Given the description of an element on the screen output the (x, y) to click on. 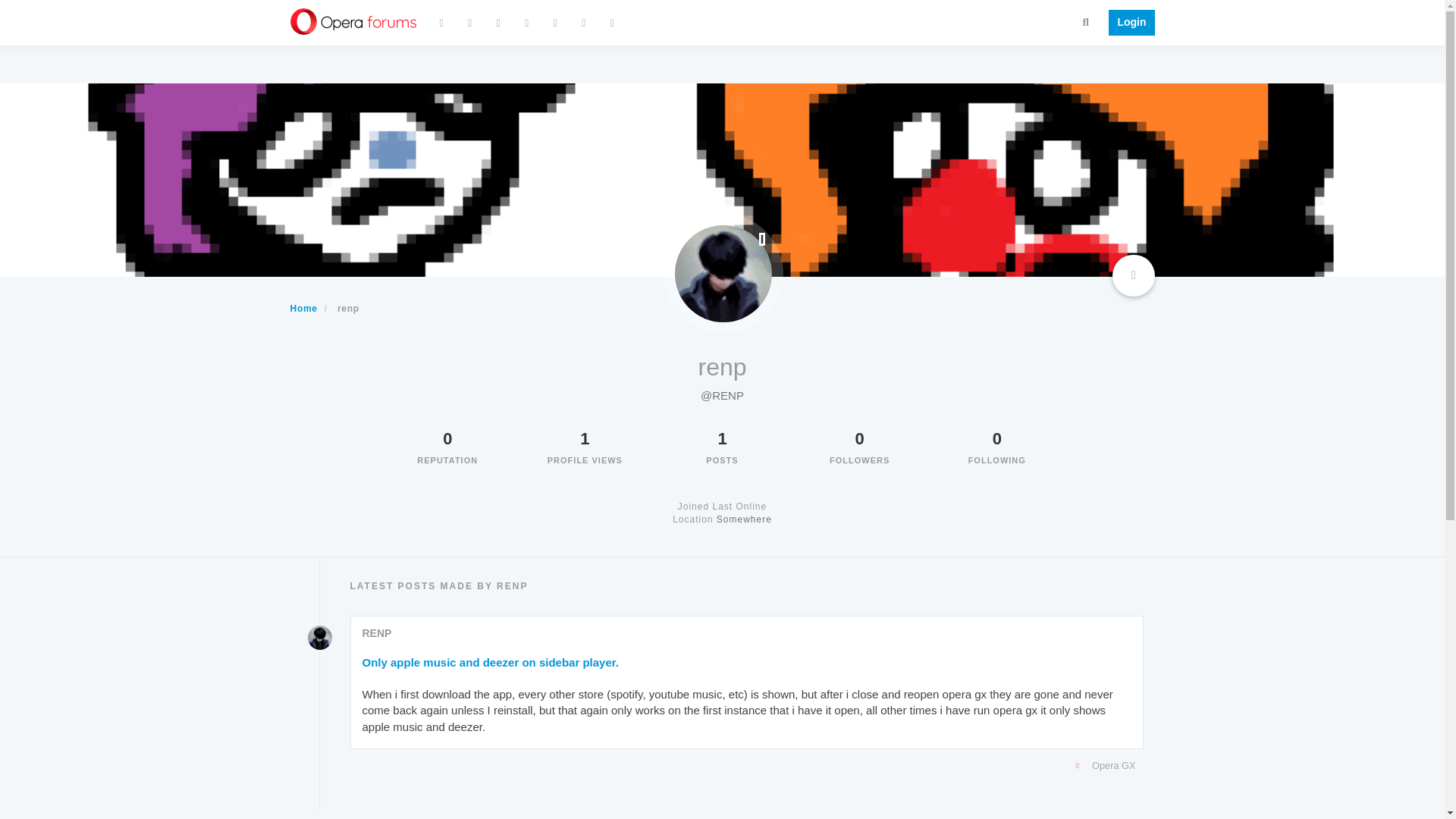
RENP (376, 633)
Home (303, 308)
Search (1085, 21)
0 (447, 438)
Login (1127, 22)
Only apple music and deezer on sidebar player. (490, 662)
Opera GX (742, 765)
